Given the description of an element on the screen output the (x, y) to click on. 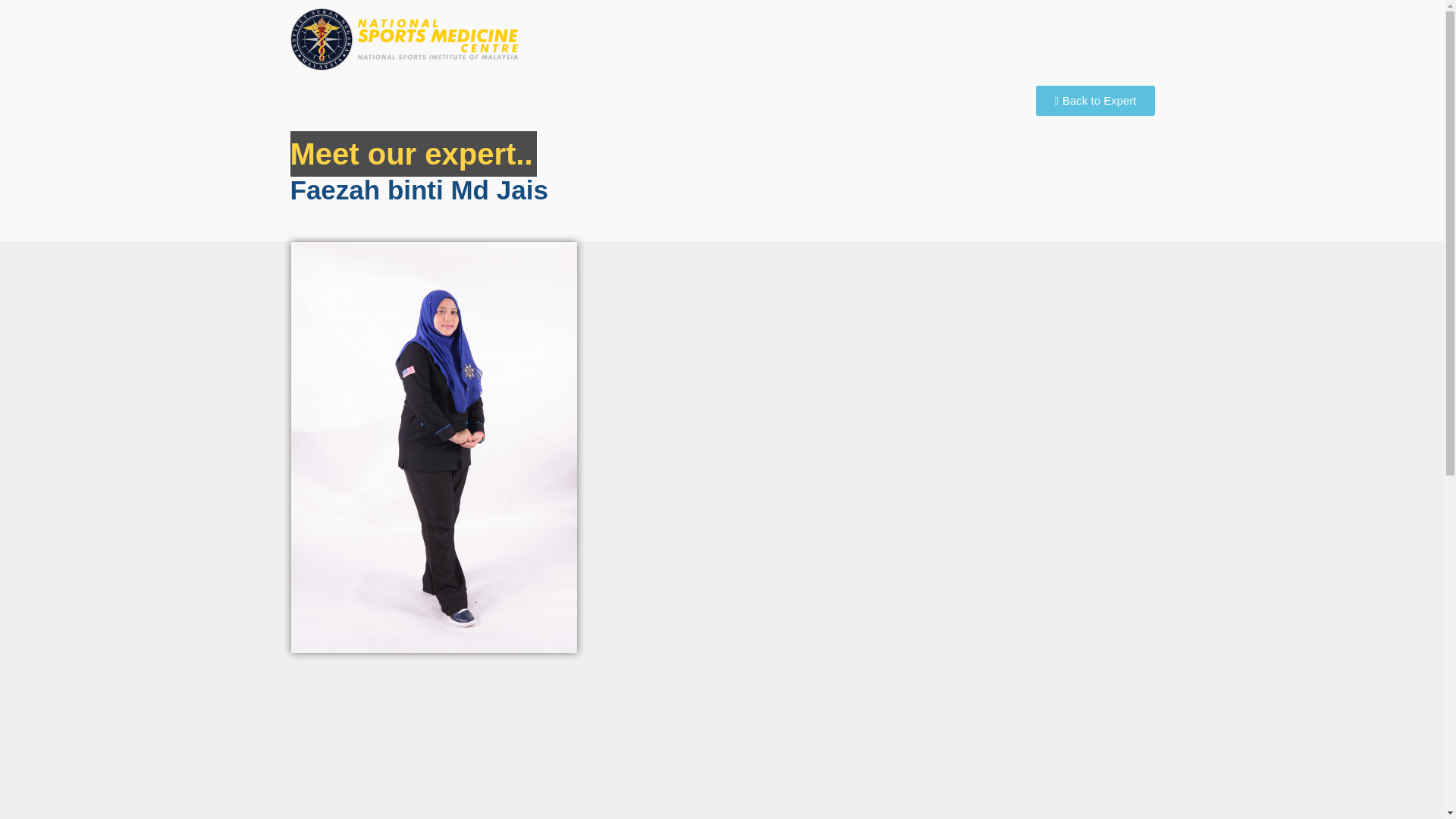
Back to Expert (1094, 100)
